Given the description of an element on the screen output the (x, y) to click on. 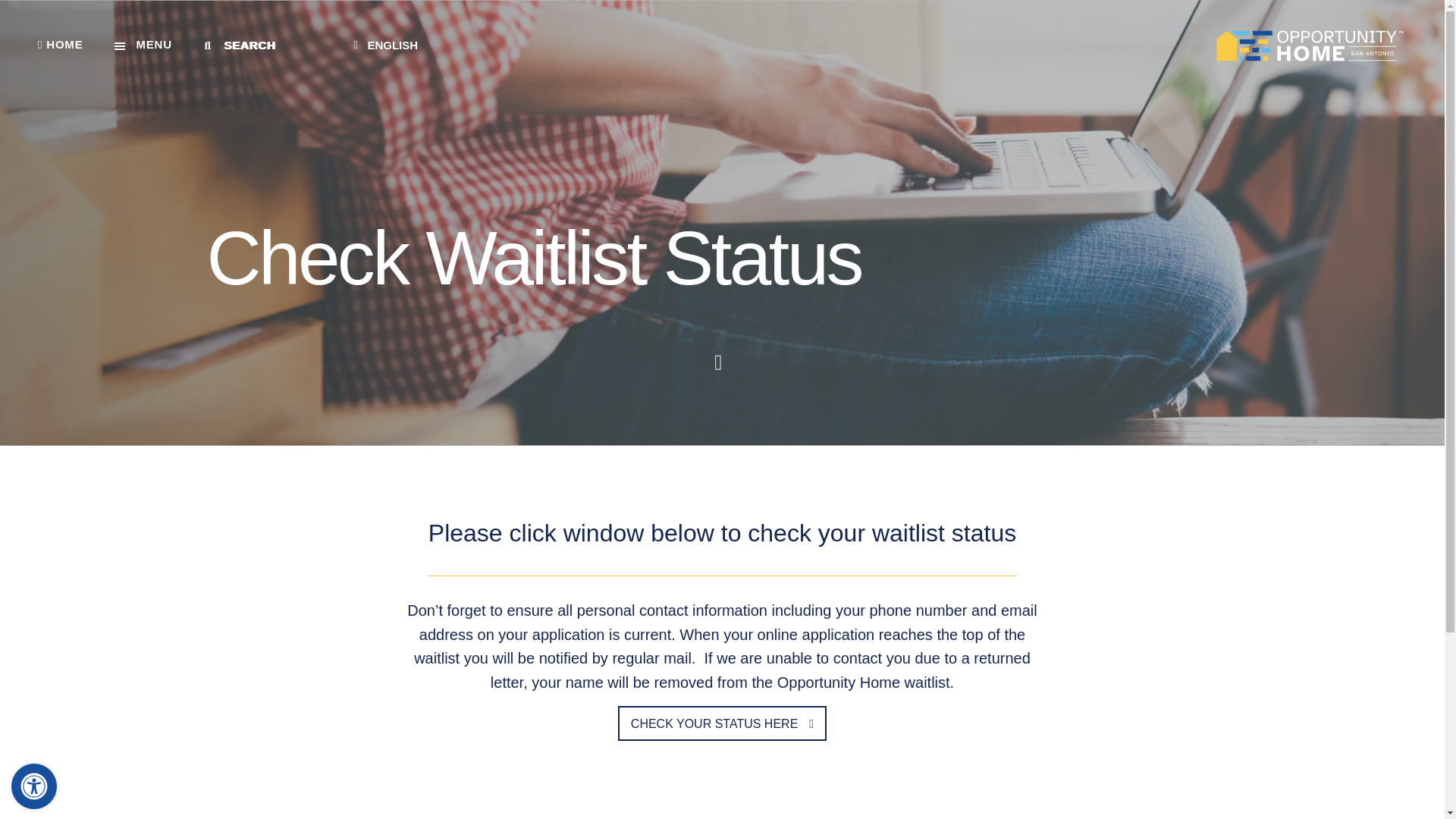
Search (274, 44)
Opportunity Home San Antonio (1309, 44)
HOME (59, 45)
